Given the description of an element on the screen output the (x, y) to click on. 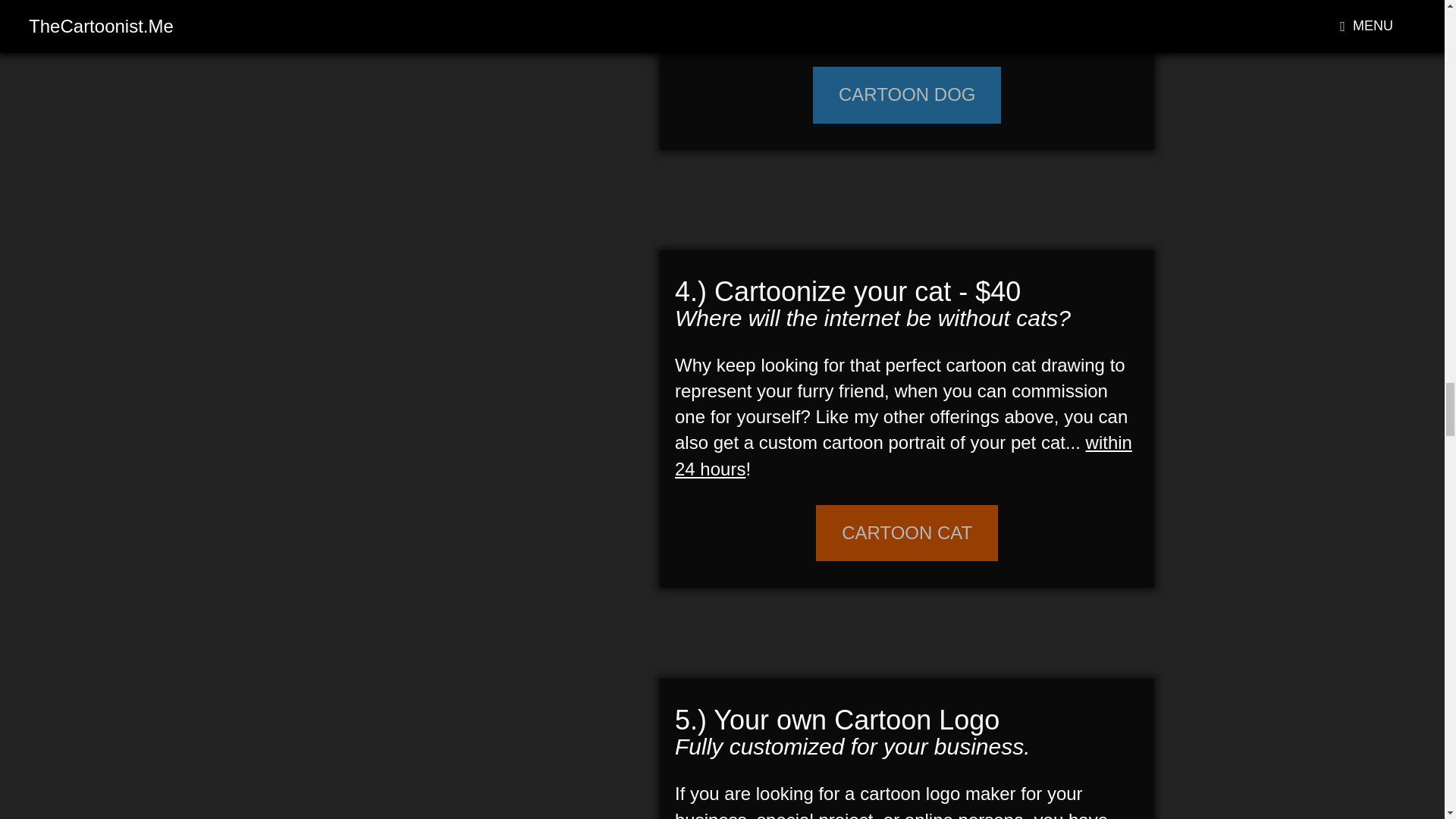
CARTOON CAT (906, 533)
CARTOON DOG (906, 94)
